Given the description of an element on the screen output the (x, y) to click on. 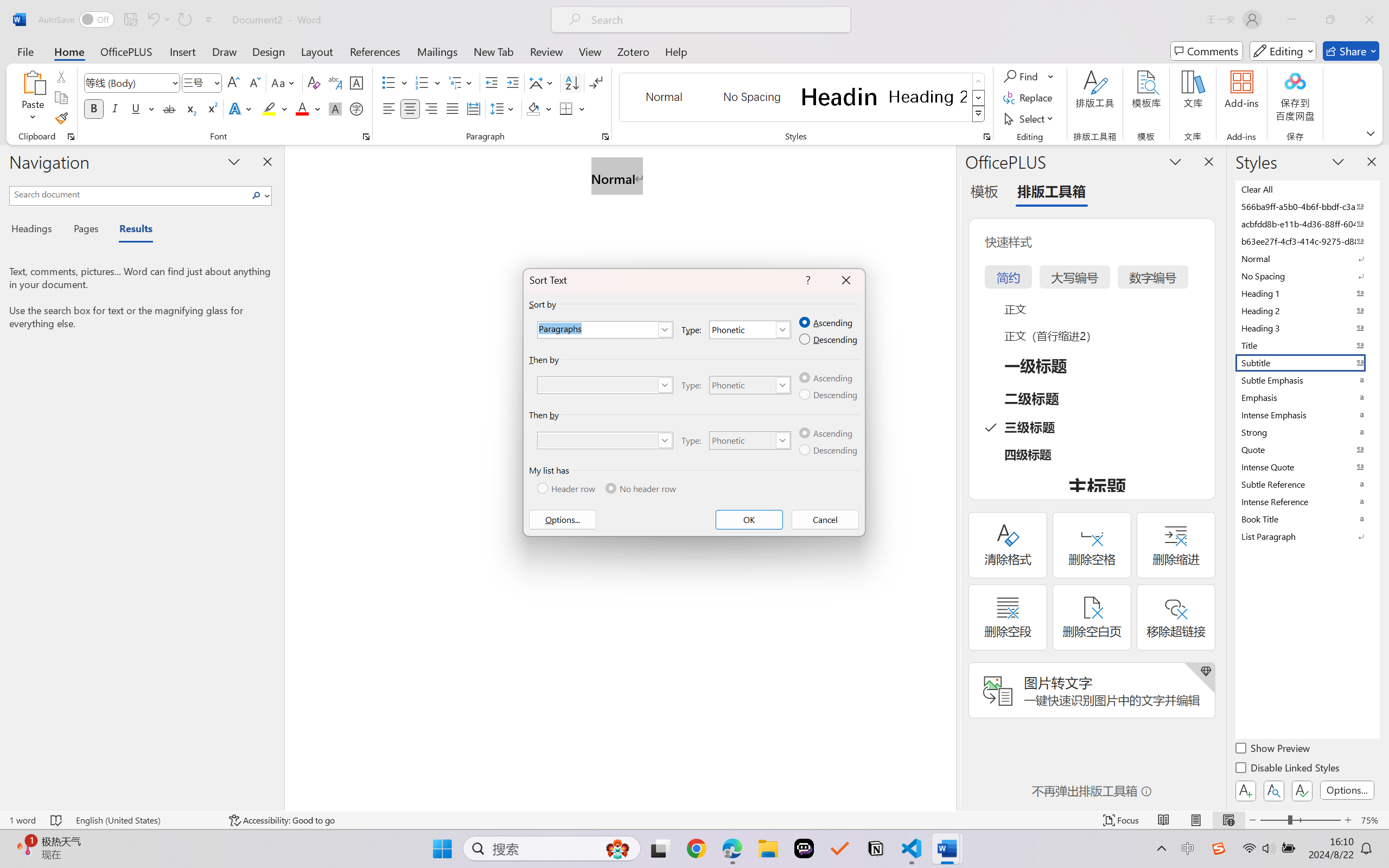
Subscript (190, 108)
Zoom (1300, 819)
Word Count 1 word (21, 819)
OfficePLUS (126, 51)
Numbering (421, 82)
Heading 1 (839, 96)
Notion (875, 848)
Microsoft search (715, 19)
Undo Style (158, 19)
New Tab (493, 51)
